Given the description of an element on the screen output the (x, y) to click on. 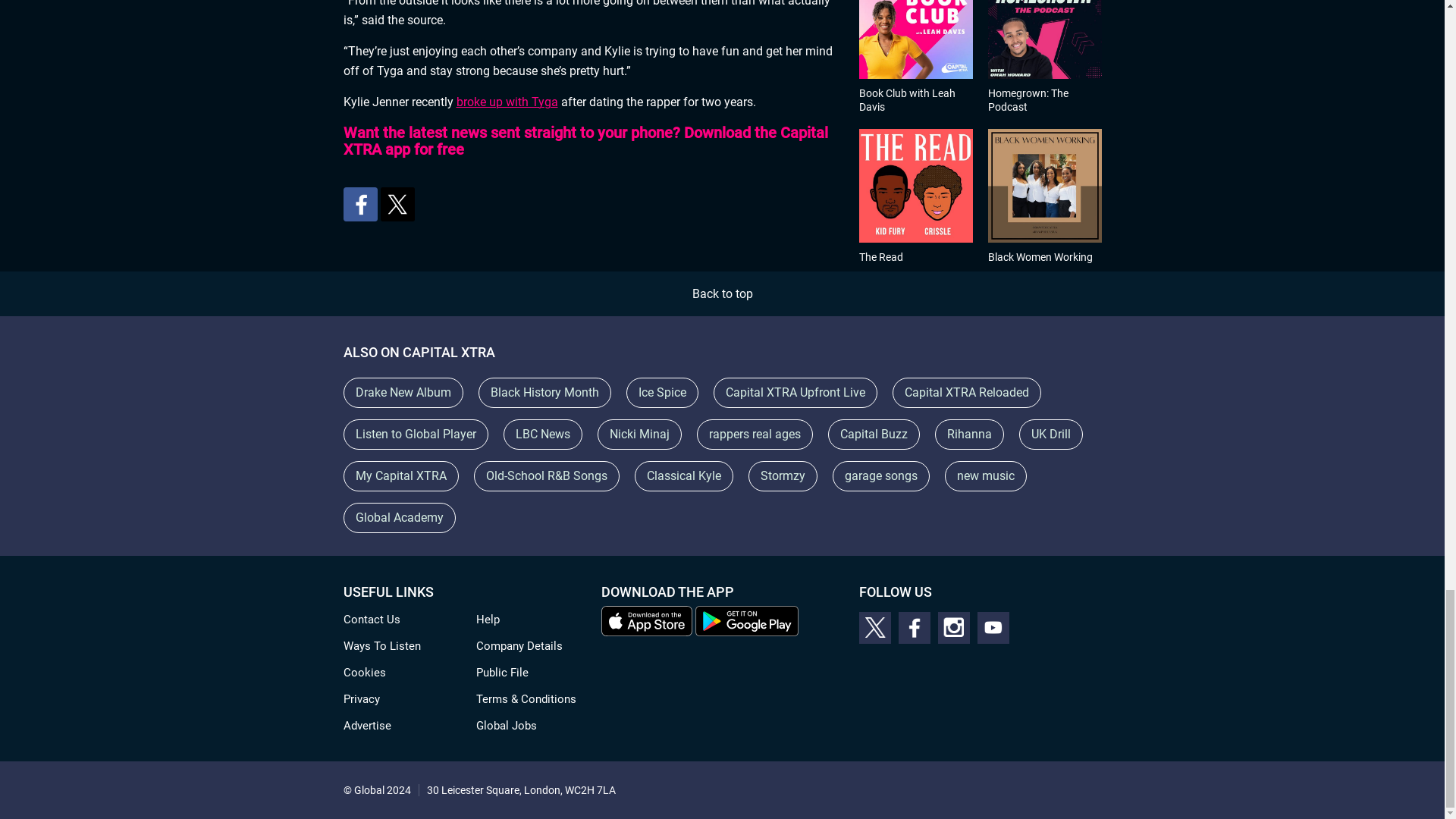
Follow CapitalXtra on Facebook (914, 627)
Follow CapitalXtra on Instagram (953, 627)
Follow CapitalXtra on X (874, 627)
Back to top (721, 293)
Follow CapitalXtra on Youtube (992, 627)
broke up with Tyga (507, 101)
